Given the description of an element on the screen output the (x, y) to click on. 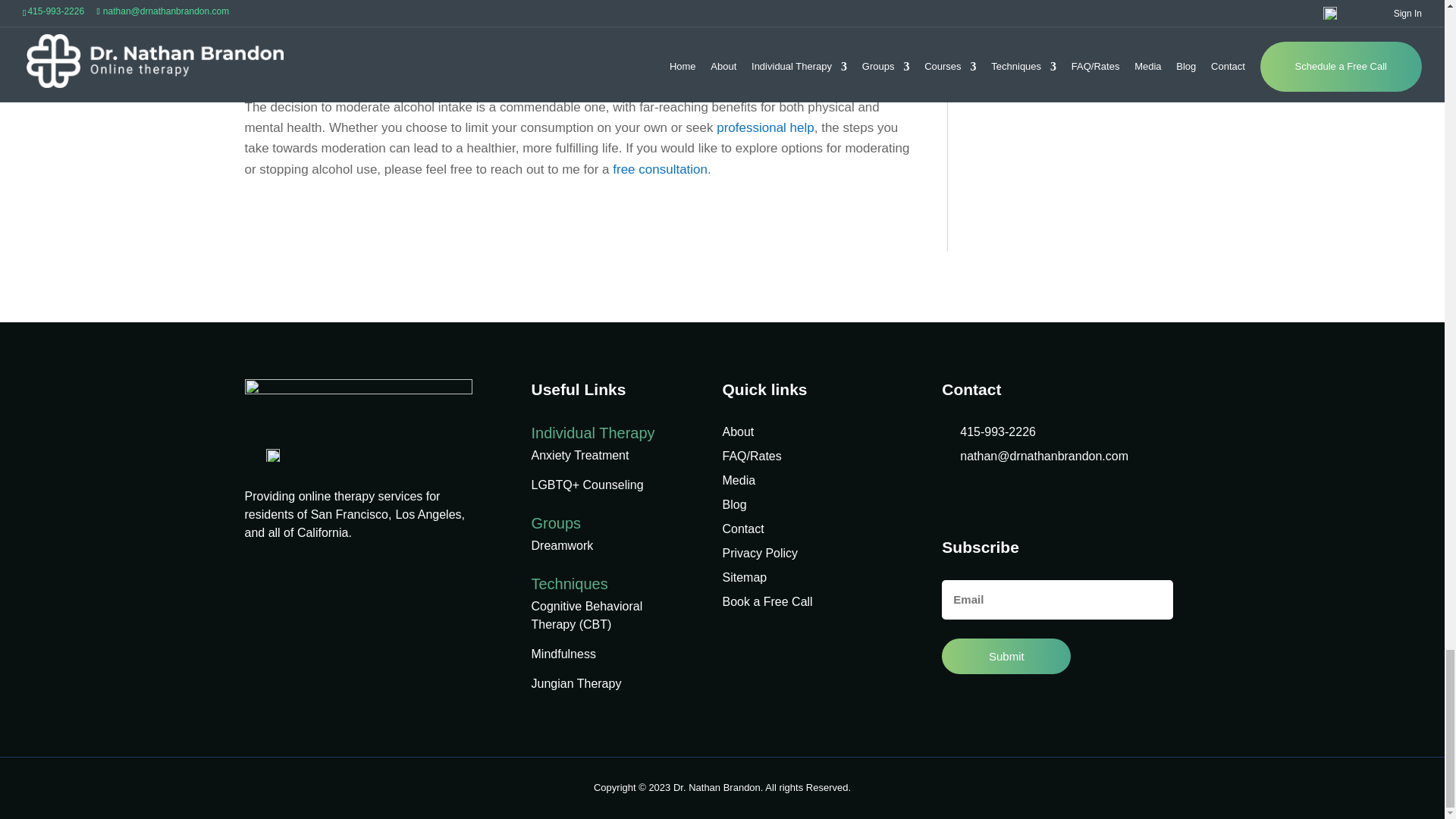
submit (1006, 656)
